Given the description of an element on the screen output the (x, y) to click on. 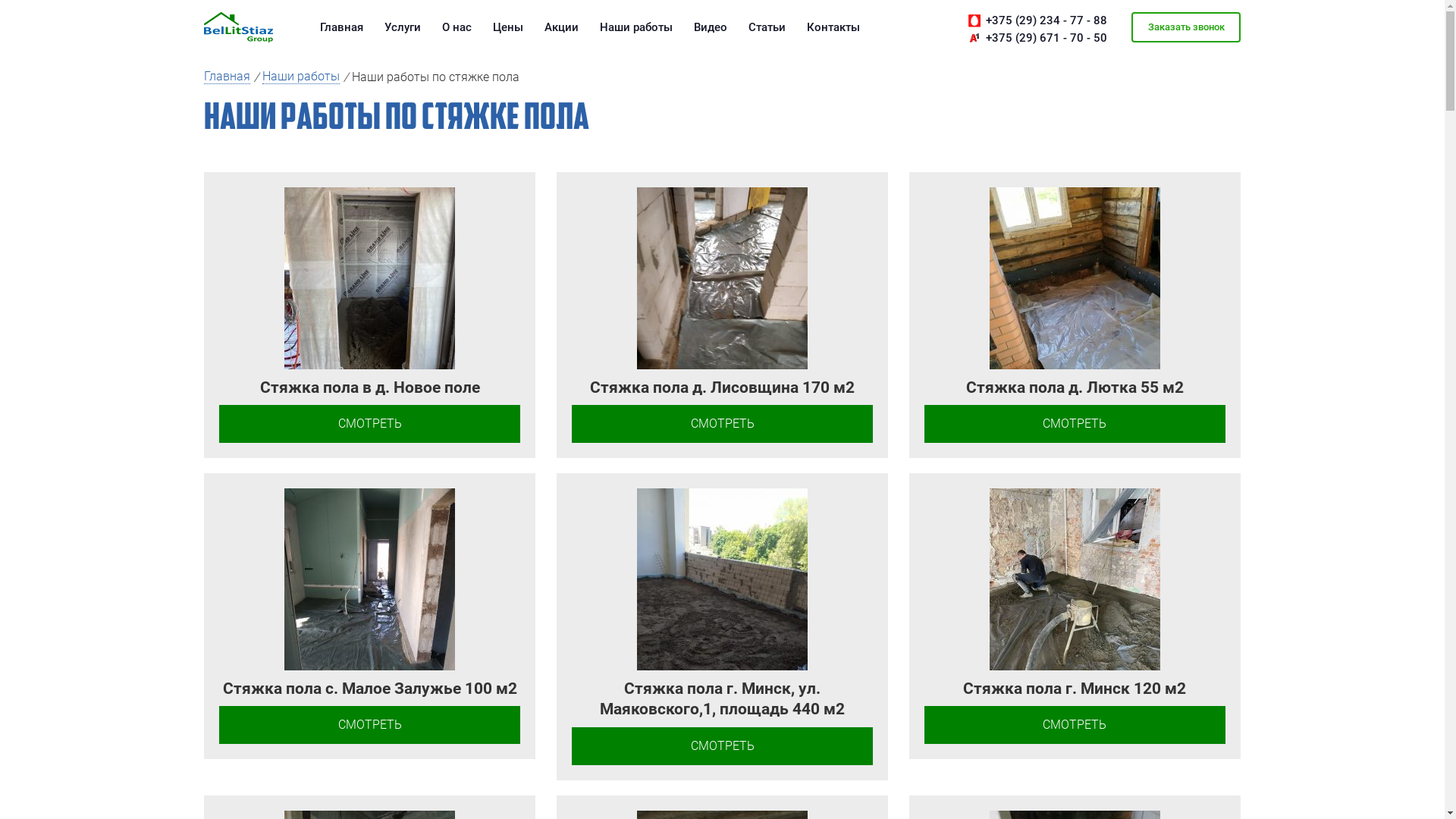
+375 (29) 671 - 70 - 50 Element type: text (1046, 37)
+375 (29) 234 - 77 - 88 Element type: text (1046, 20)
